Given the description of an element on the screen output the (x, y) to click on. 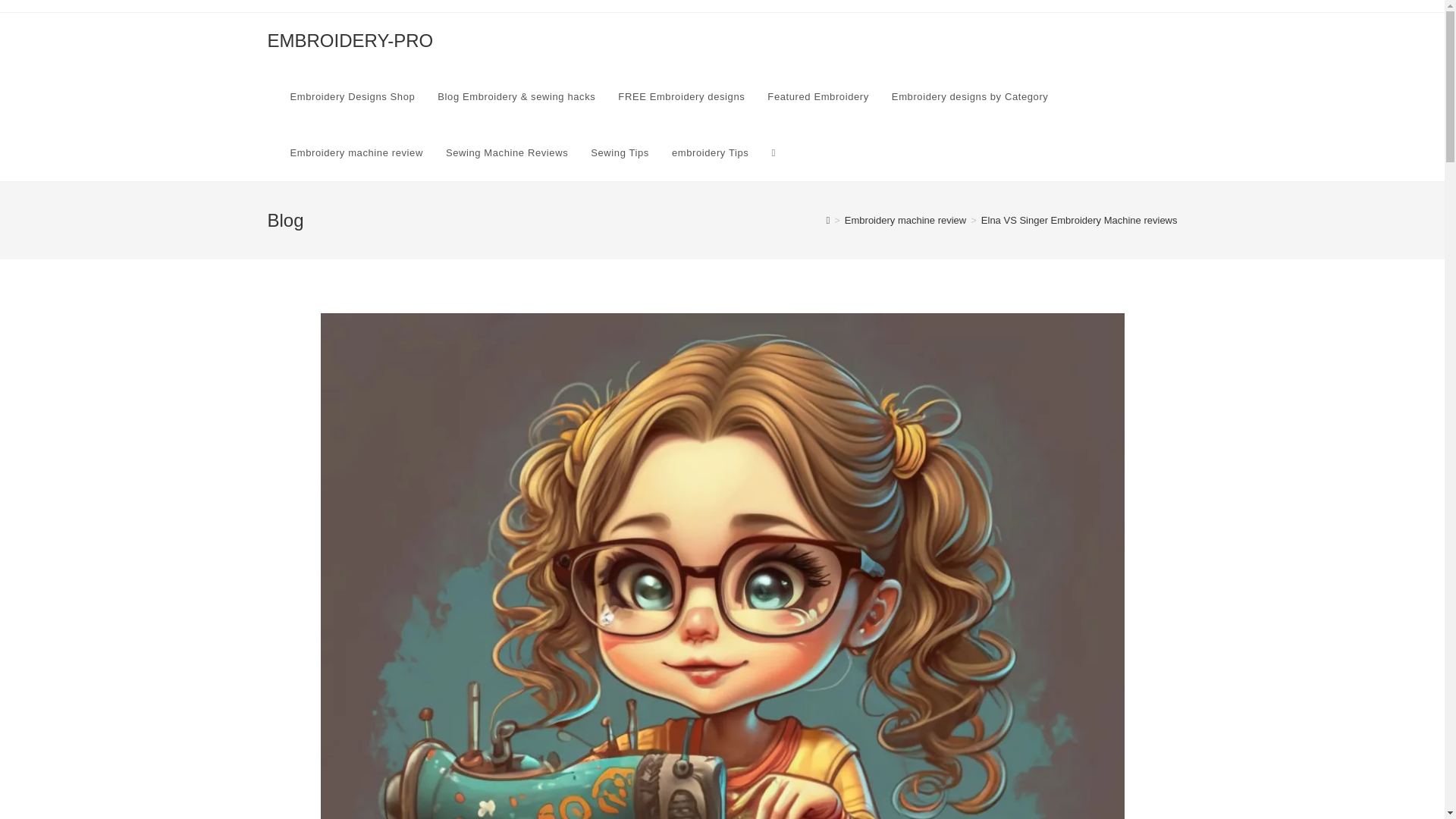
embroidery Tips (710, 152)
FREE Embroidery designs (681, 96)
Embroidery machine review (905, 220)
EMBROIDERY-PRO (349, 40)
Elna VS Singer Embroidery Machine reviews (1079, 220)
Embroidery designs by Category (969, 96)
Sewing Machine Reviews (506, 152)
Sewing Tips (620, 152)
Embroidery machine review (356, 152)
Featured Embroidery (817, 96)
Embroidery Designs Shop (352, 96)
